Given the description of an element on the screen output the (x, y) to click on. 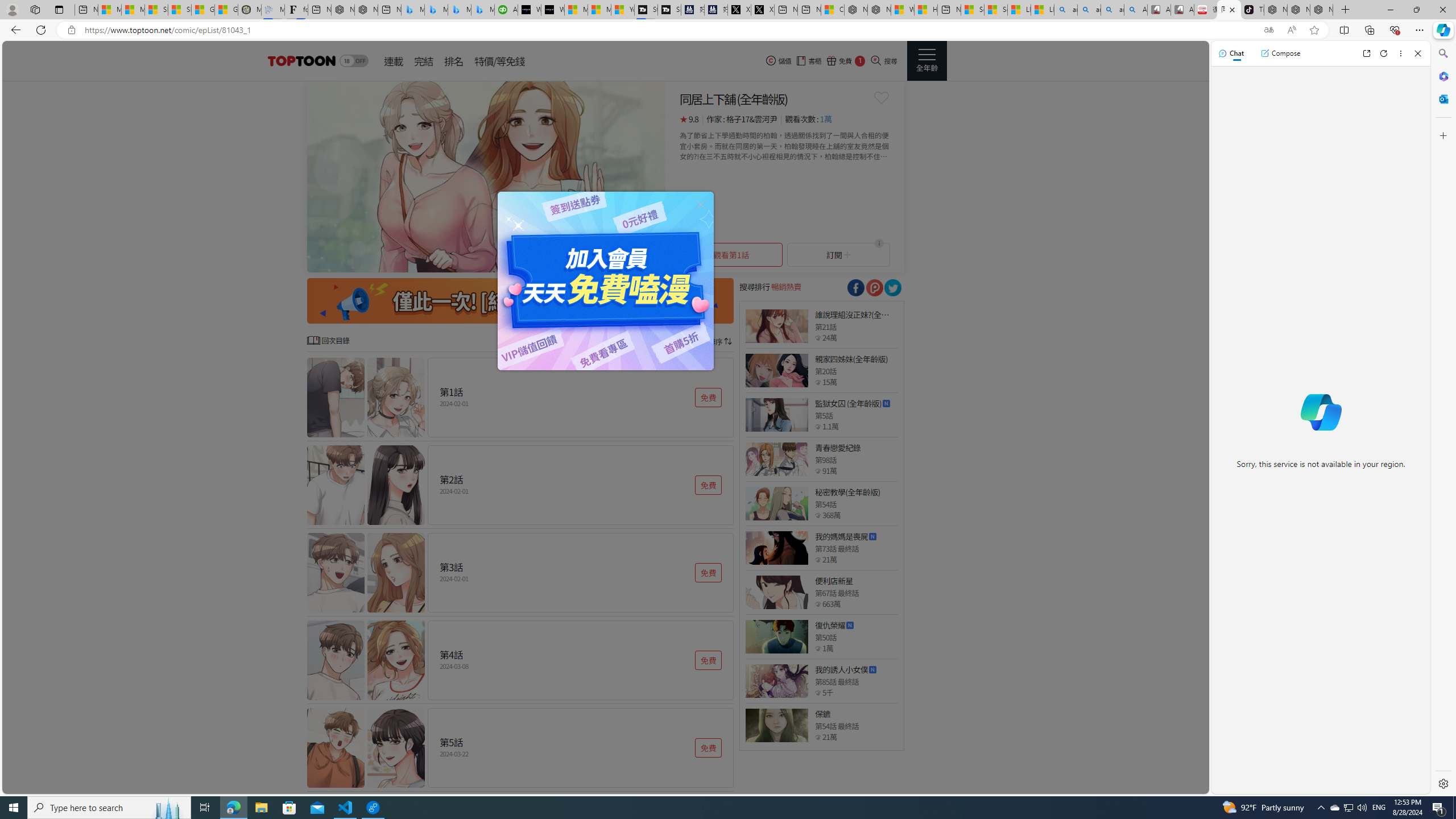
Class: thumb_img (776, 725)
Nordace Siena Pro 15 Backpack (1298, 9)
